Given the description of an element on the screen output the (x, y) to click on. 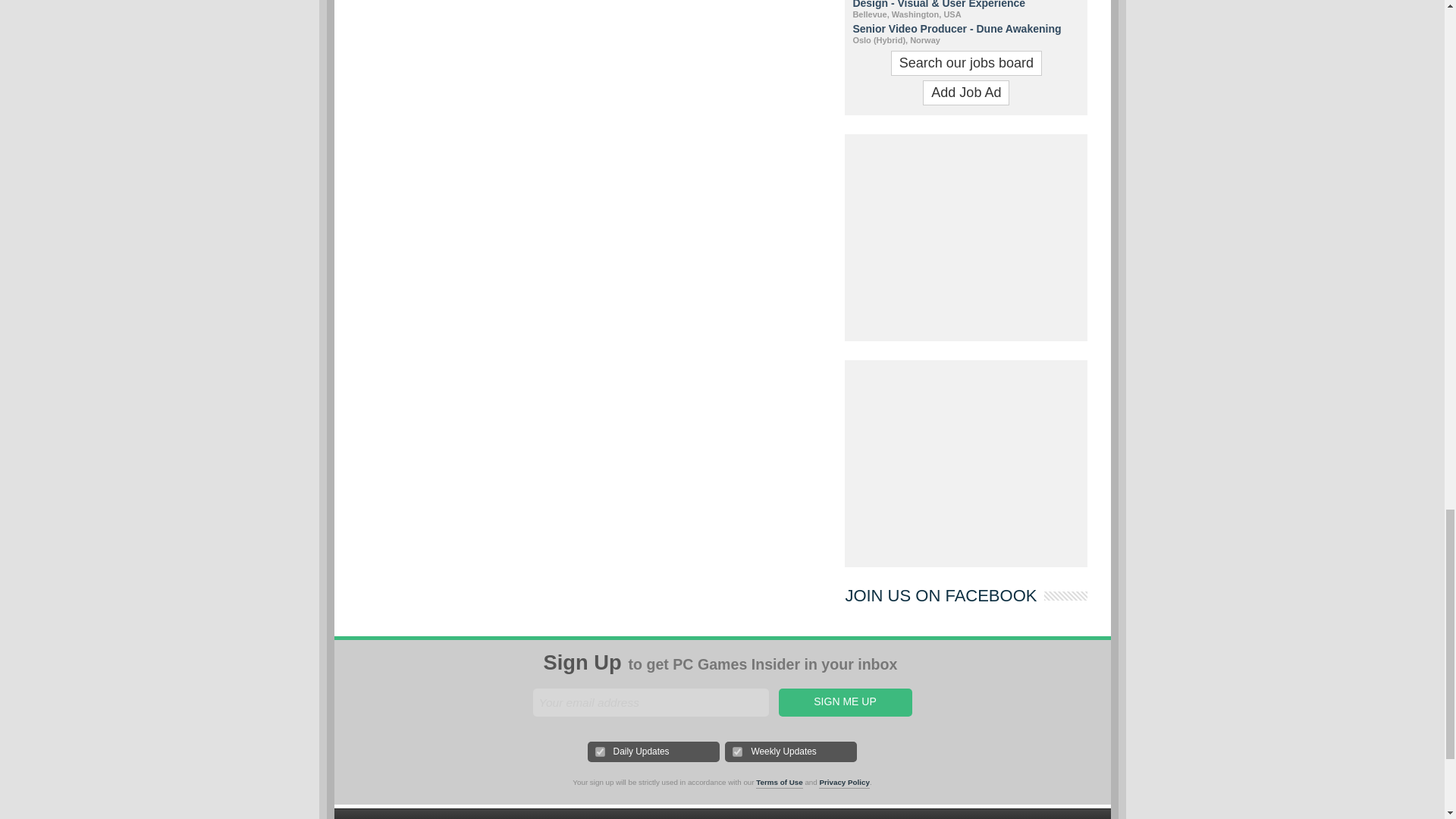
2 (737, 751)
SIGN ME UP (844, 702)
1 (600, 751)
